Given the description of an element on the screen output the (x, y) to click on. 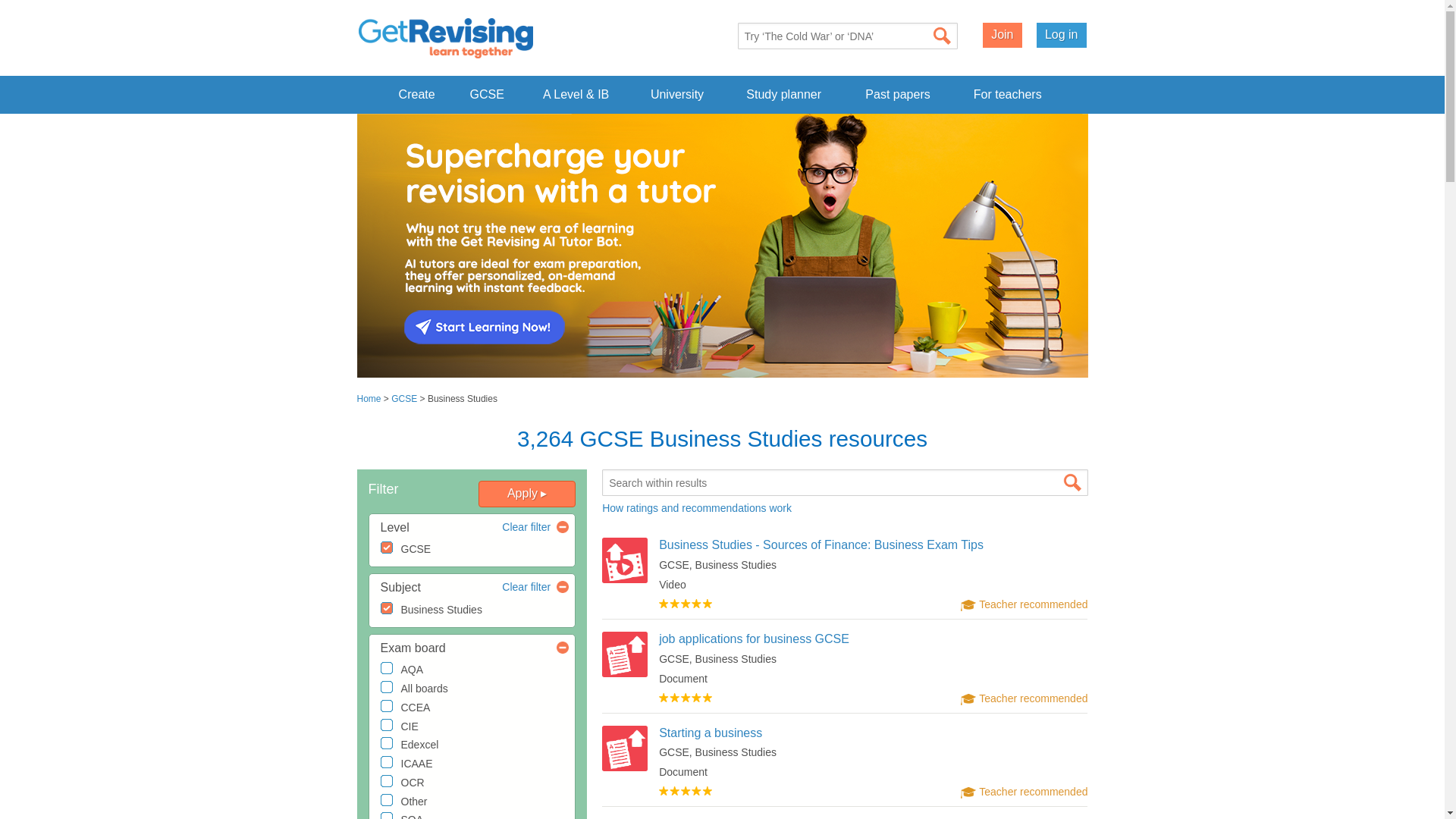
Business Studies - Sources of Finance: Business Exam Tips (821, 544)
Study planner (783, 94)
For teachers (1008, 94)
Clear filter (526, 587)
How ratings and recommendations work (697, 508)
Get Revising (445, 38)
Clear filter (526, 527)
Starting a business (710, 732)
Apply (527, 493)
Create (415, 94)
